Given the description of an element on the screen output the (x, y) to click on. 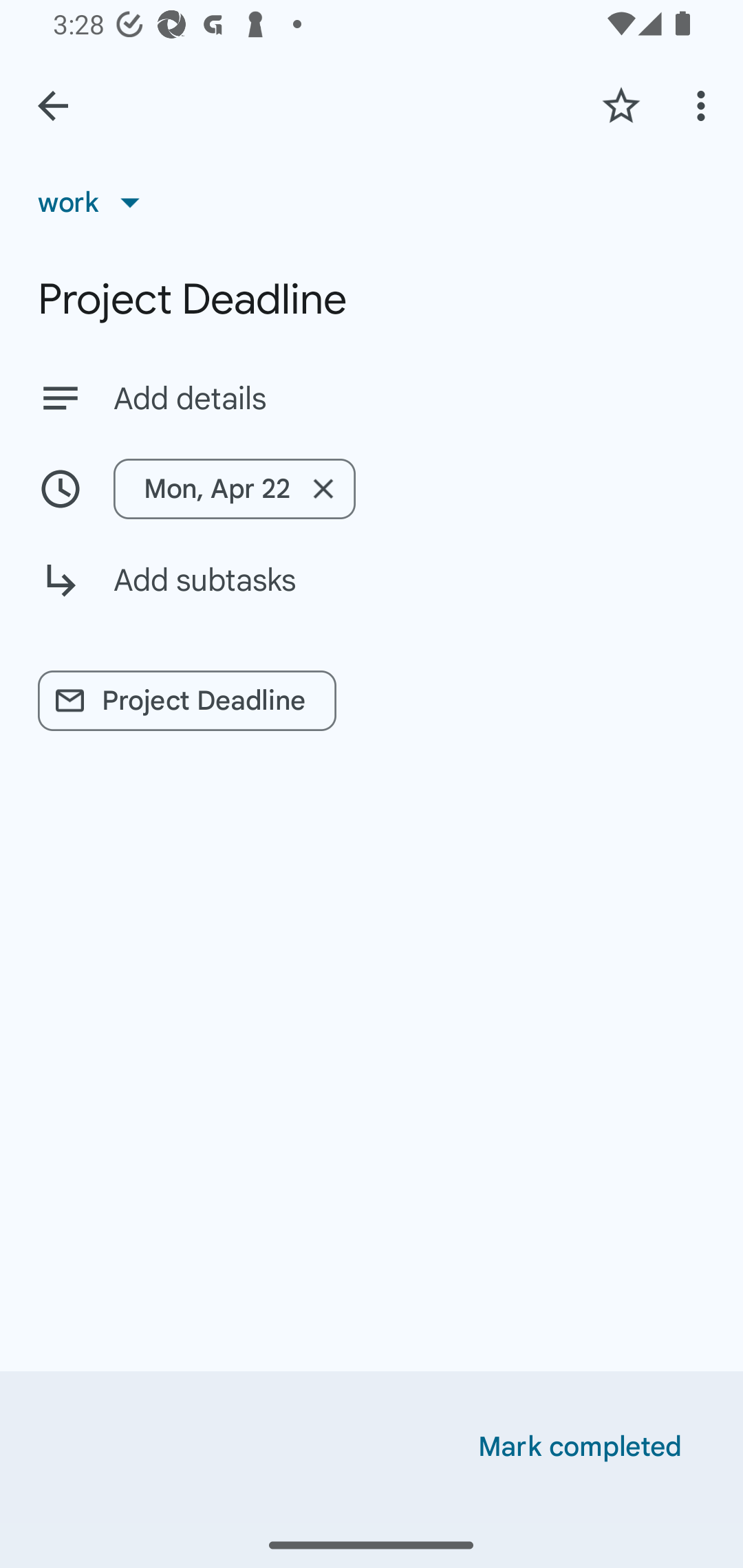
Back (53, 105)
Add star (620, 105)
More options (704, 105)
work List, work selected, 1 of 4 (95, 202)
Project Deadline (371, 299)
Add details (371, 397)
Add details (409, 397)
Mon, Apr 22 Remove date/time (371, 488)
Mon, Apr 22 Remove date/time (234, 488)
Add subtasks (371, 594)
Project Deadline Related link (186, 700)
Mark completed (580, 1446)
